Given the description of an element on the screen output the (x, y) to click on. 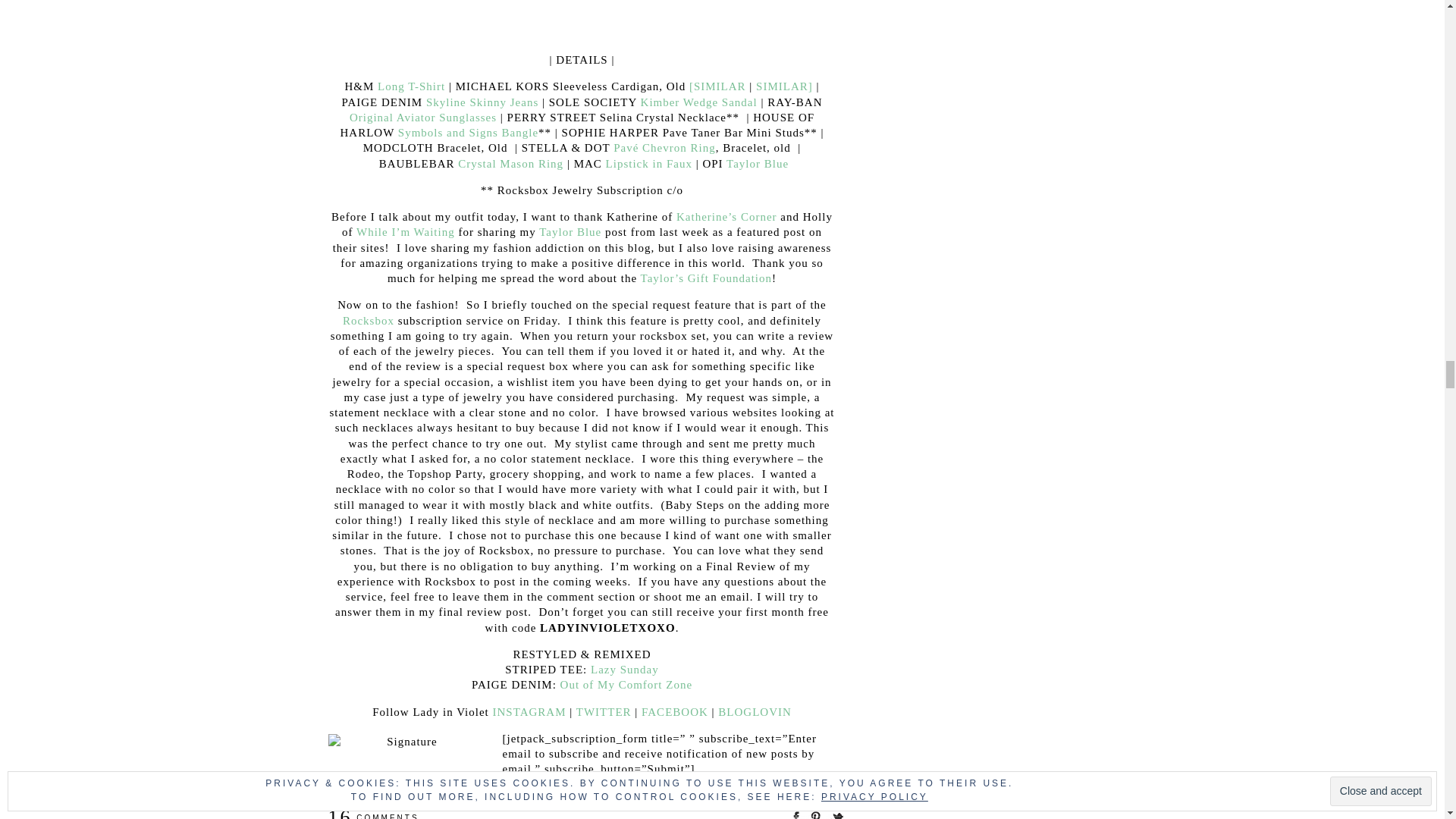
Taylor Blue (569, 232)
Not So Lazy Sunday (625, 669)
Out of My Comfort Zone (626, 684)
